Given the description of an element on the screen output the (x, y) to click on. 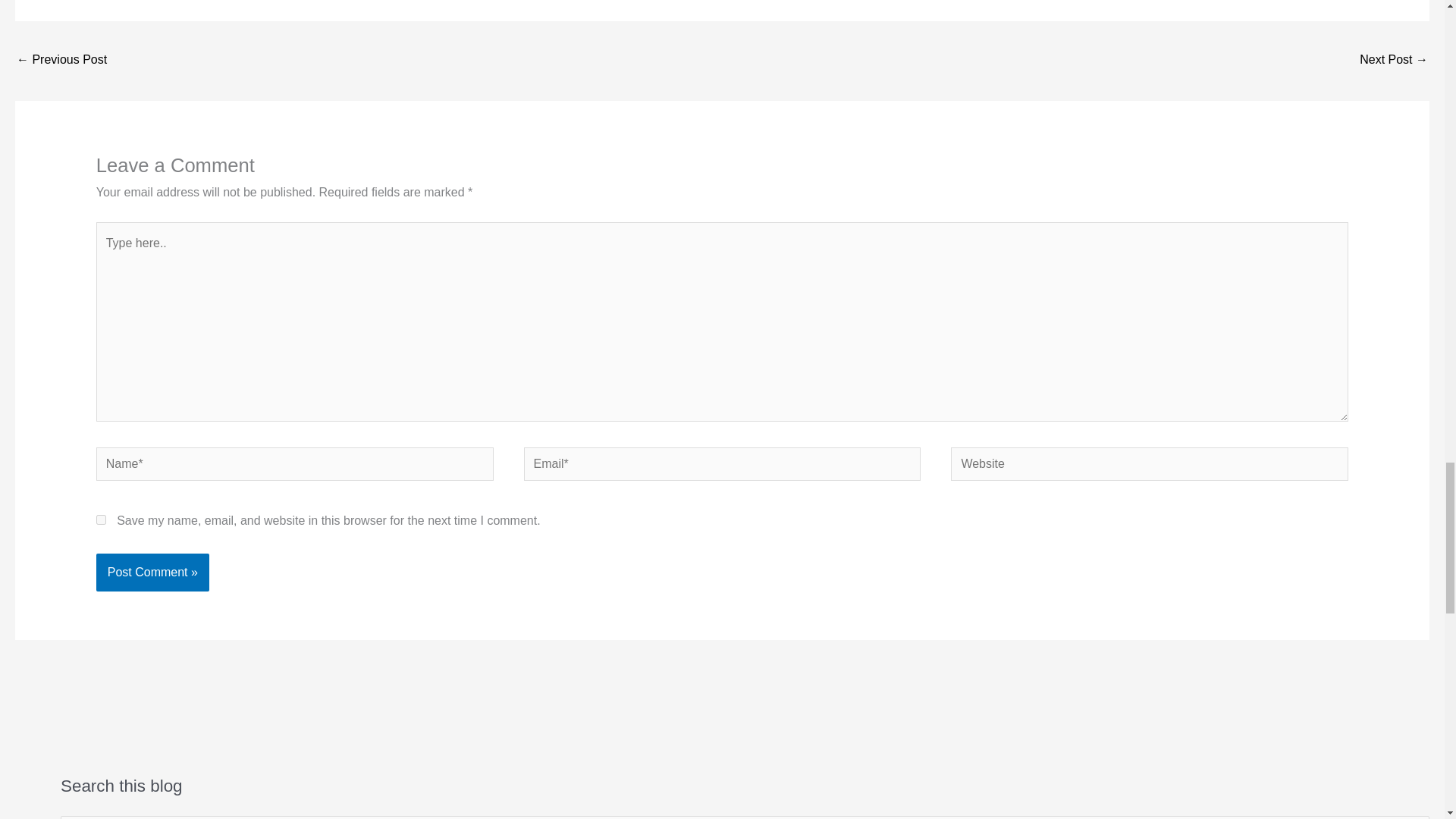
Search (1411, 817)
Search (1411, 817)
yes (101, 519)
Search (1411, 817)
